Given the description of an element on the screen output the (x, y) to click on. 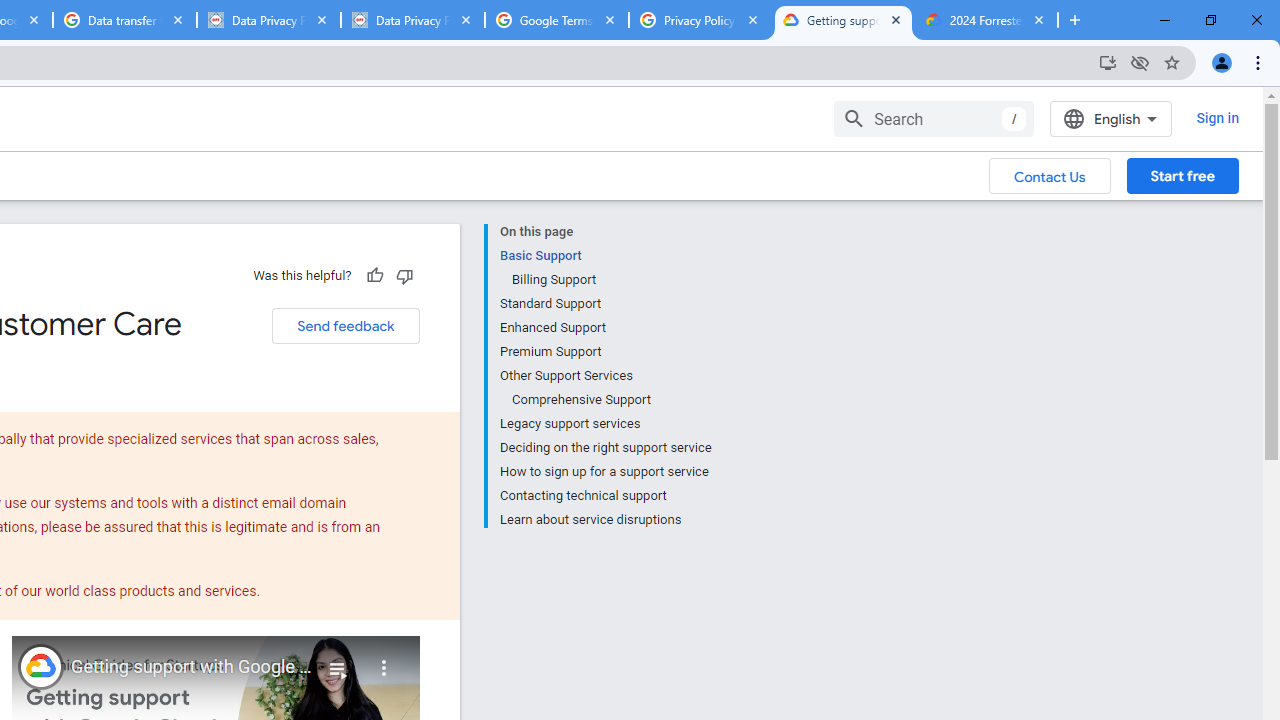
English (1110, 118)
Contact Us (1050, 175)
Enhanced Support (605, 327)
Photo image of Google Cloud Tech (40, 665)
Comprehensive Support (610, 399)
Getting support with Google Cloud Customer Care (191, 667)
Billing Support (610, 279)
Other Support Services (605, 376)
Data Privacy Framework (412, 20)
Helpful (374, 275)
